Given the description of an element on the screen output the (x, y) to click on. 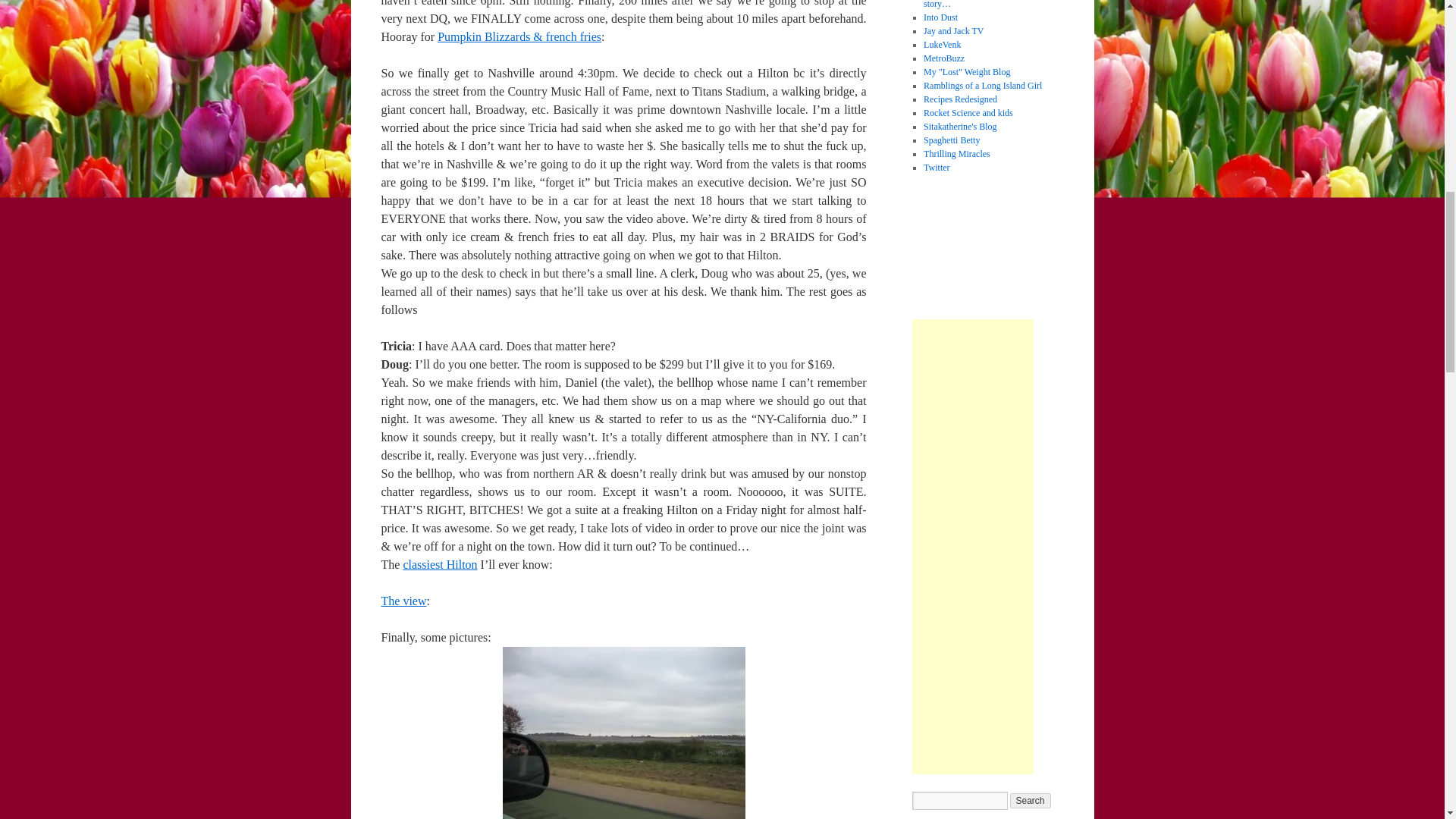
classiest Hilton (440, 563)
Search (1030, 800)
The view (403, 600)
